Given the description of an element on the screen output the (x, y) to click on. 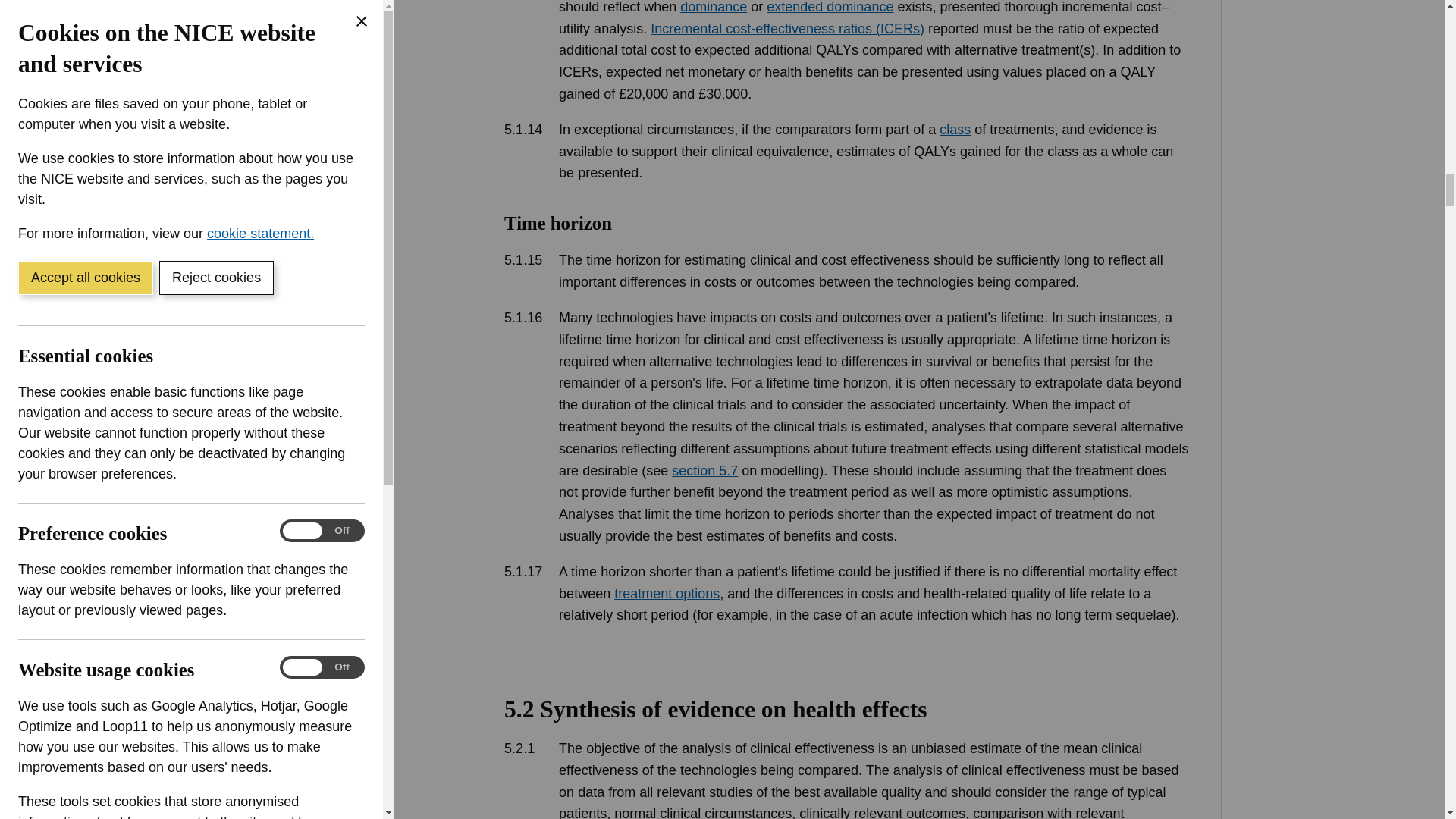
Type of economic evaluation (845, 92)
5.2 Synthesis of evidence on health effects (845, 736)
